Given the description of an element on the screen output the (x, y) to click on. 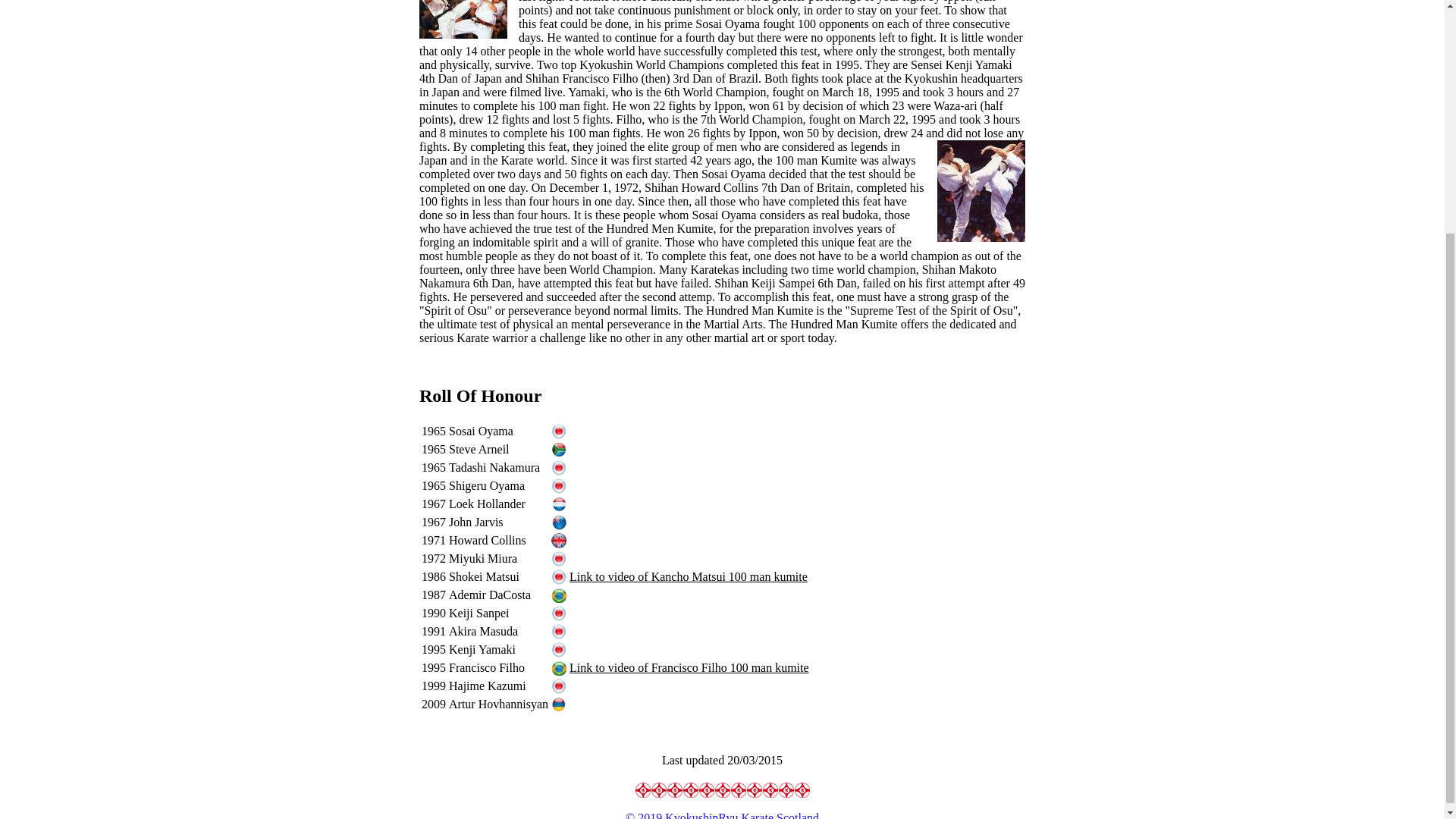
Link to video of Francisco Filho 100 man kumite (689, 667)
Link to video of Kancho Matsui 100 man kumite (688, 576)
